Given the description of an element on the screen output the (x, y) to click on. 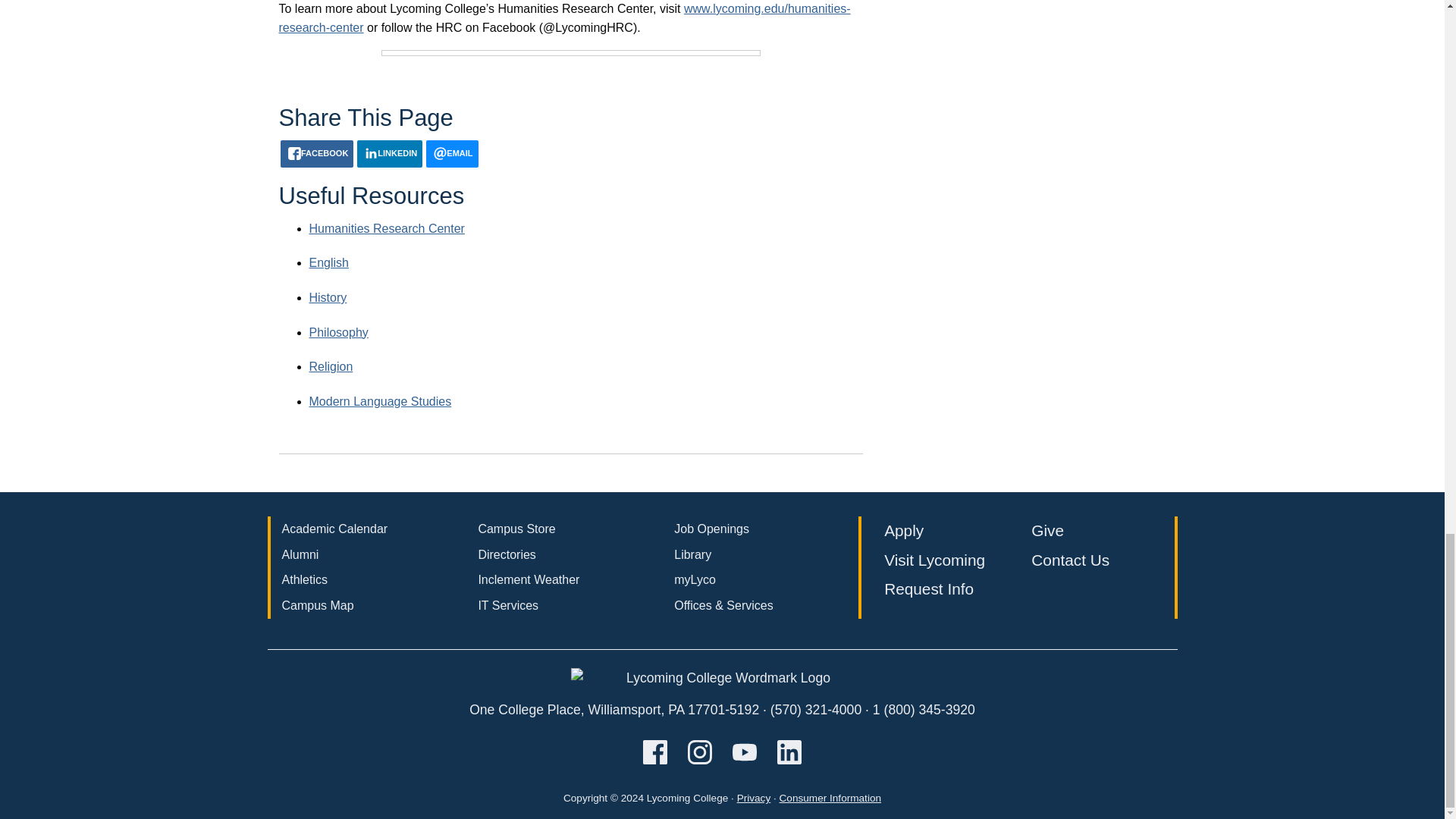
Send Email (451, 153)
LinkedIn (389, 153)
Facebook (317, 153)
